Given the description of an element on the screen output the (x, y) to click on. 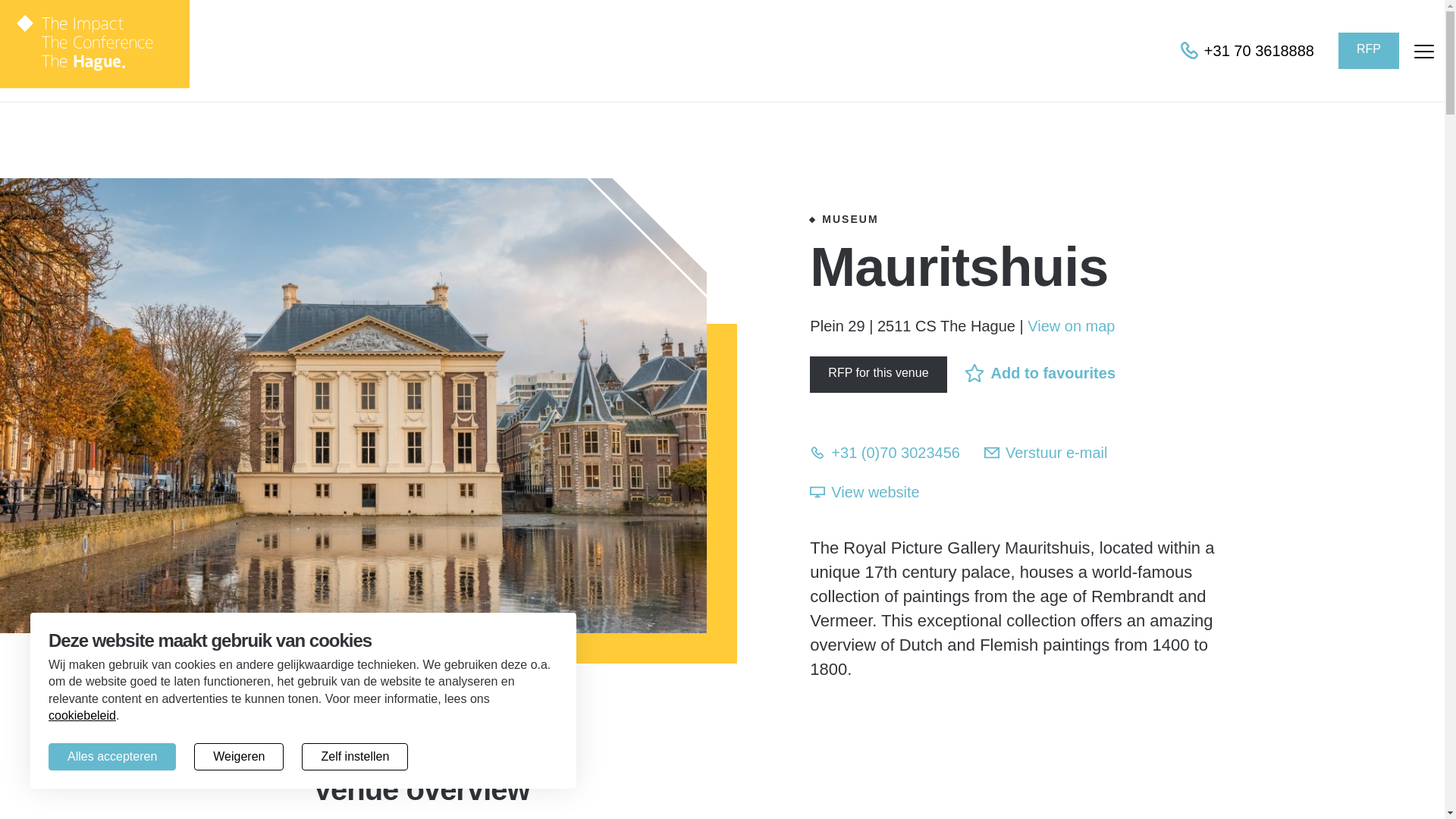
RFP (1368, 50)
